Given the description of an element on the screen output the (x, y) to click on. 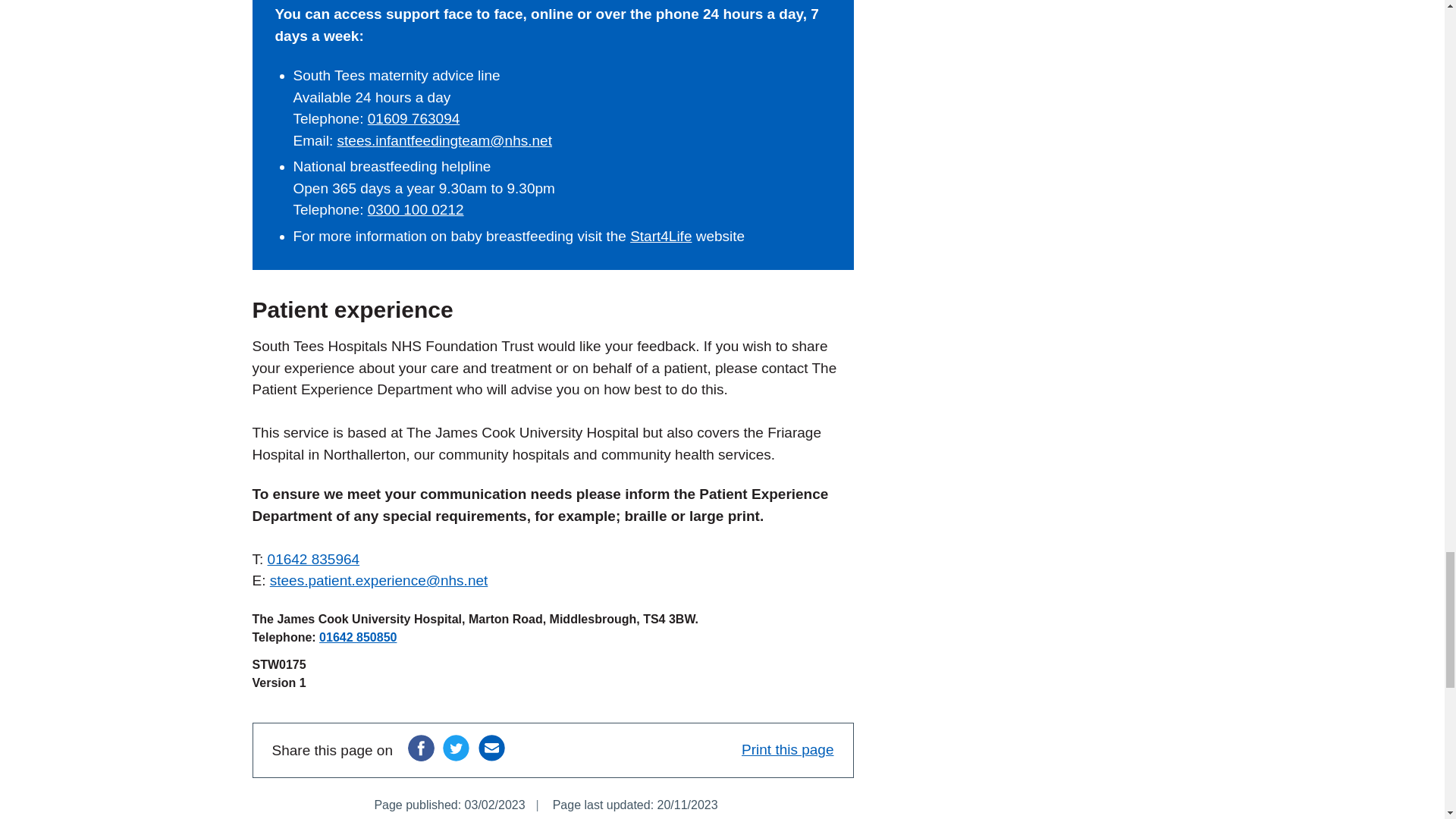
Share on Twitter (455, 747)
Share via Email (492, 747)
Share on Facebook (420, 747)
